Given the description of an element on the screen output the (x, y) to click on. 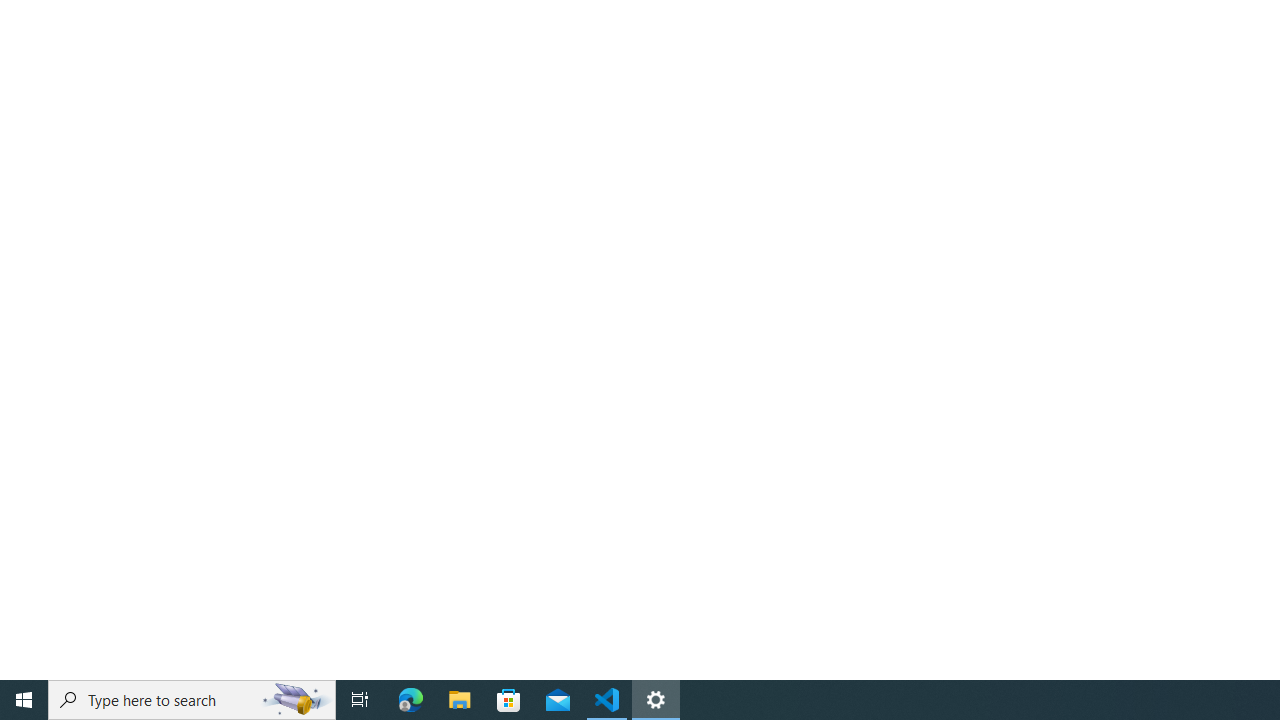
Settings - 1 running window (656, 699)
Task View (359, 699)
File Explorer (460, 699)
Start (24, 699)
Type here to search (191, 699)
Microsoft Edge (411, 699)
Visual Studio Code - 1 running window (607, 699)
Search highlights icon opens search home window (295, 699)
Microsoft Store (509, 699)
